Given the description of an element on the screen output the (x, y) to click on. 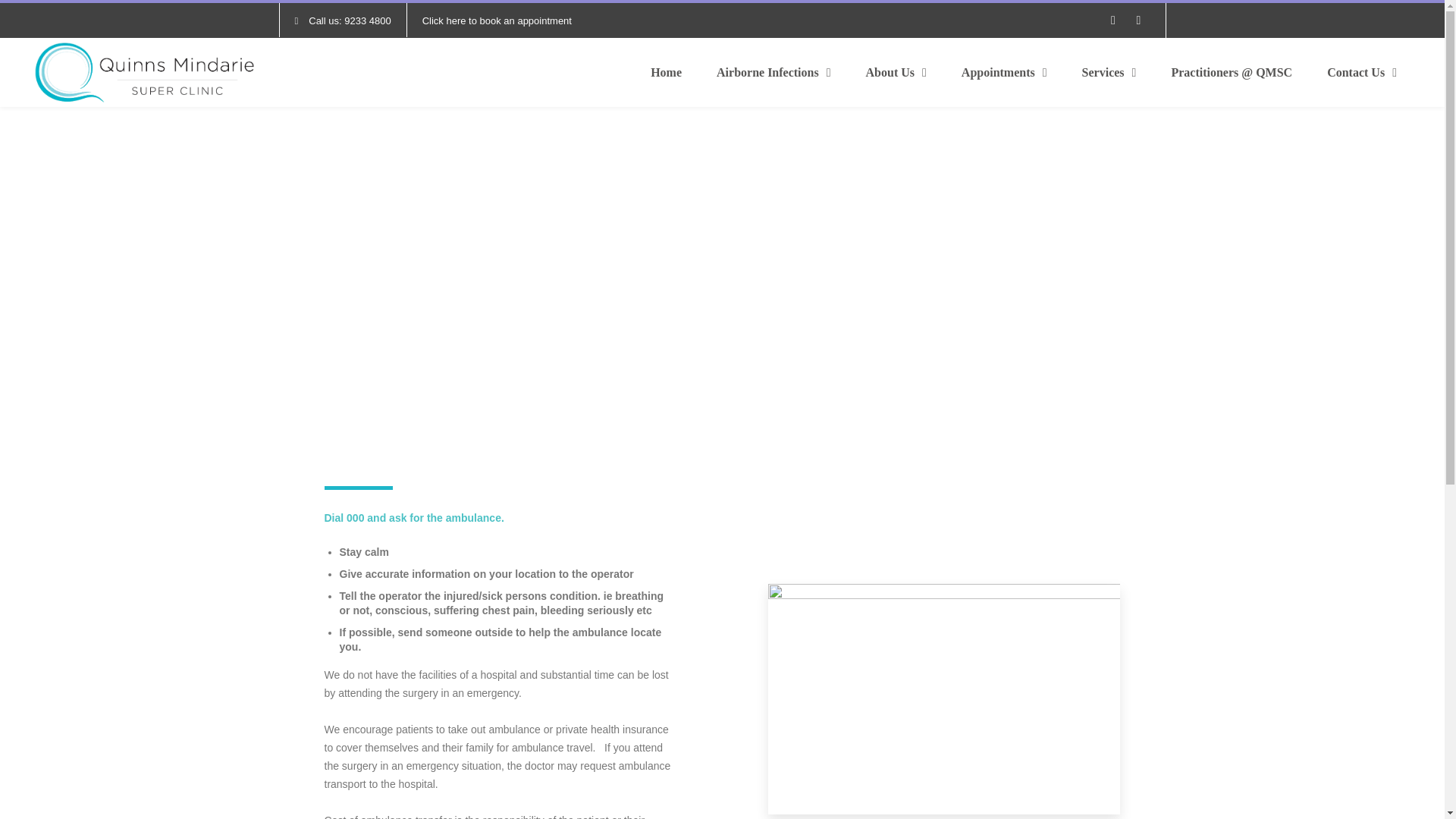
Home (665, 72)
Airborne Infections (773, 72)
Quinns Medical (143, 72)
Click here to book an appointment (497, 20)
Appointments (1003, 72)
Services (1109, 72)
About Us (895, 72)
